Given the description of an element on the screen output the (x, y) to click on. 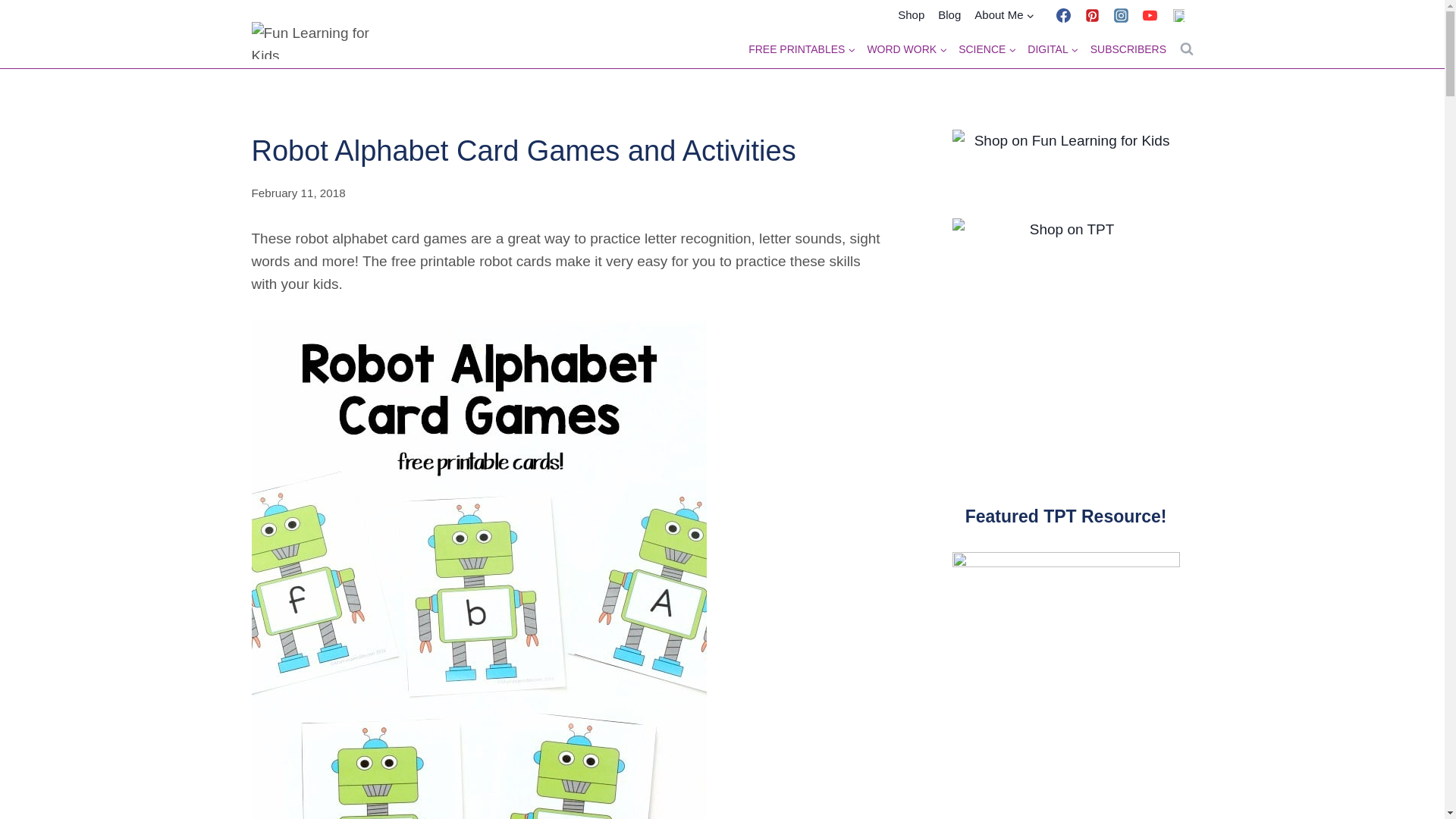
Blog (949, 15)
About Me (1004, 15)
SUBSCRIBERS (1128, 49)
FREE PRINTABLES (801, 49)
Shop (911, 15)
SCIENCE (987, 49)
DIGITAL (1053, 49)
WORD WORK (907, 49)
